Given the description of an element on the screen output the (x, y) to click on. 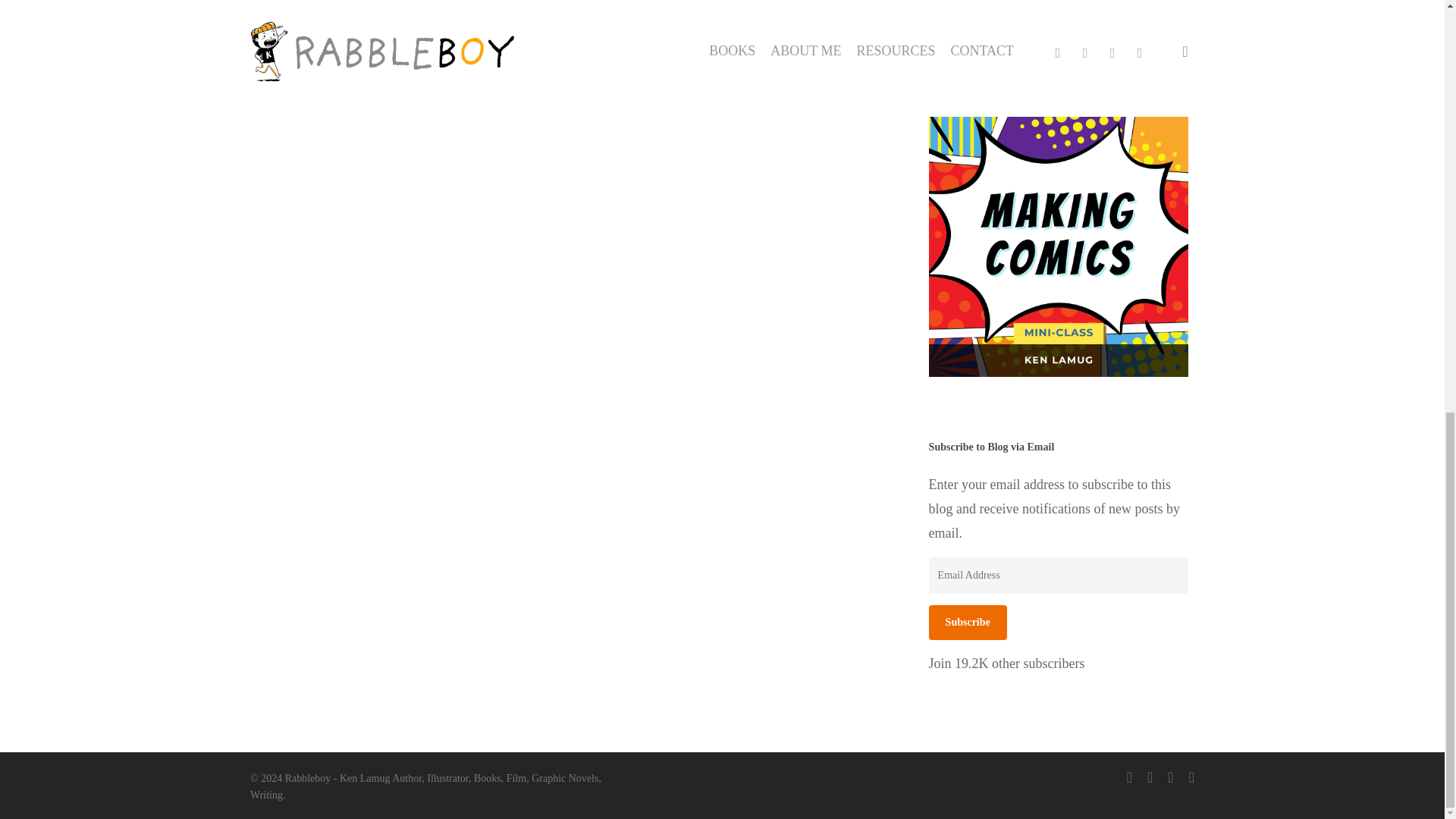
instagram (1191, 777)
facebook (1150, 777)
youtube (1170, 777)
twitter (1129, 777)
Subscribe (967, 622)
